Given the description of an element on the screen output the (x, y) to click on. 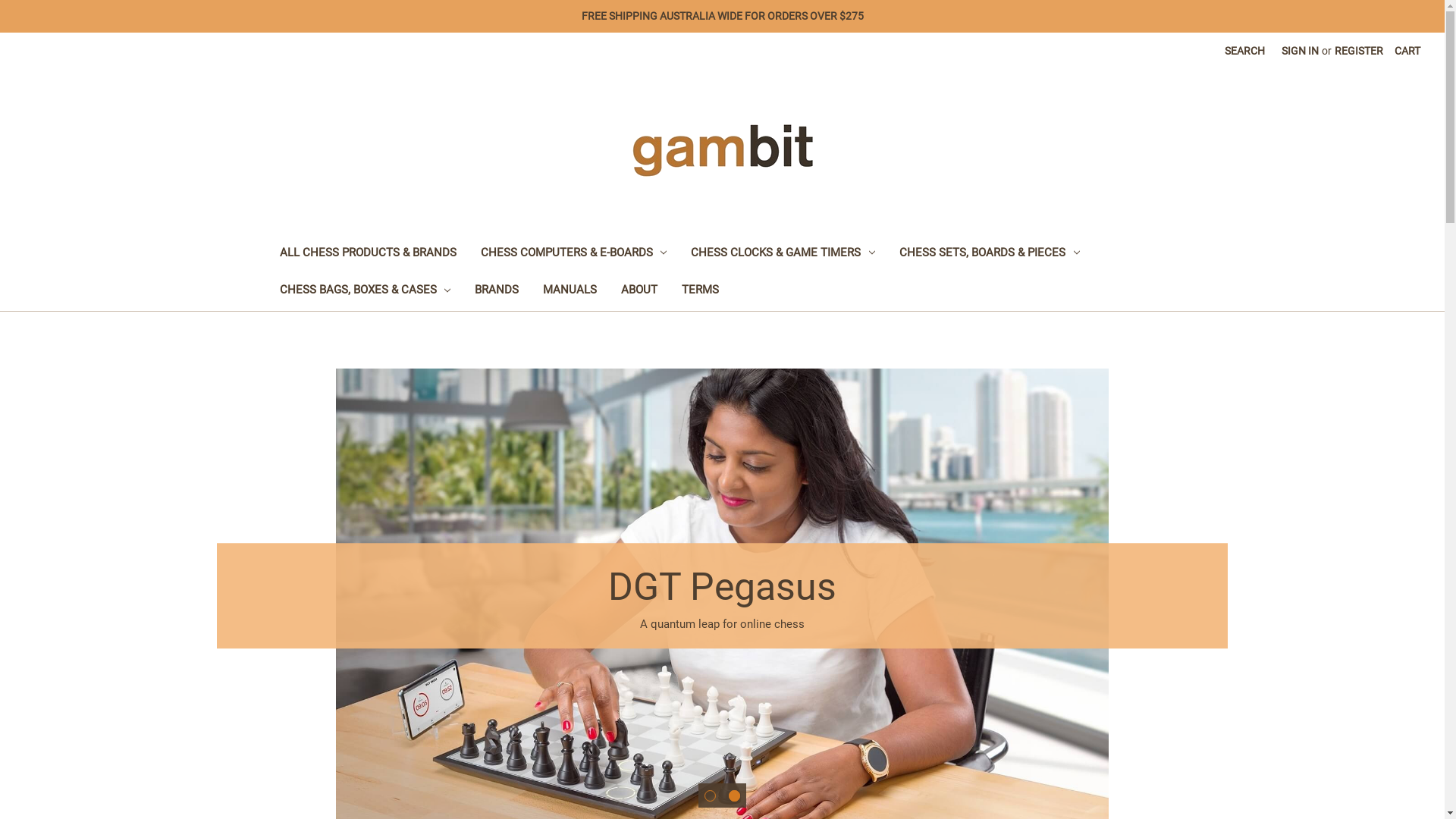
TERMS Element type: text (700, 291)
ALL CHESS PRODUCTS & BRANDS Element type: text (366, 254)
BRANDS Element type: text (496, 291)
REGISTER Element type: text (1358, 50)
CART Element type: text (1407, 50)
SEARCH Element type: text (1244, 50)
Gambit Chess Supplies Element type: hover (722, 150)
CHESS SETS, BOARDS & PIECES Element type: text (989, 254)
CHESS BAGS, BOXES & CASES Element type: text (364, 291)
SIGN IN Element type: text (1300, 50)
MANUALS Element type: text (569, 291)
ABOUT Element type: text (638, 291)
CHESS CLOCKS & GAME TIMERS Element type: text (782, 254)
CHESS COMPUTERS & E-BOARDS Element type: text (573, 254)
